Given the description of an element on the screen output the (x, y) to click on. 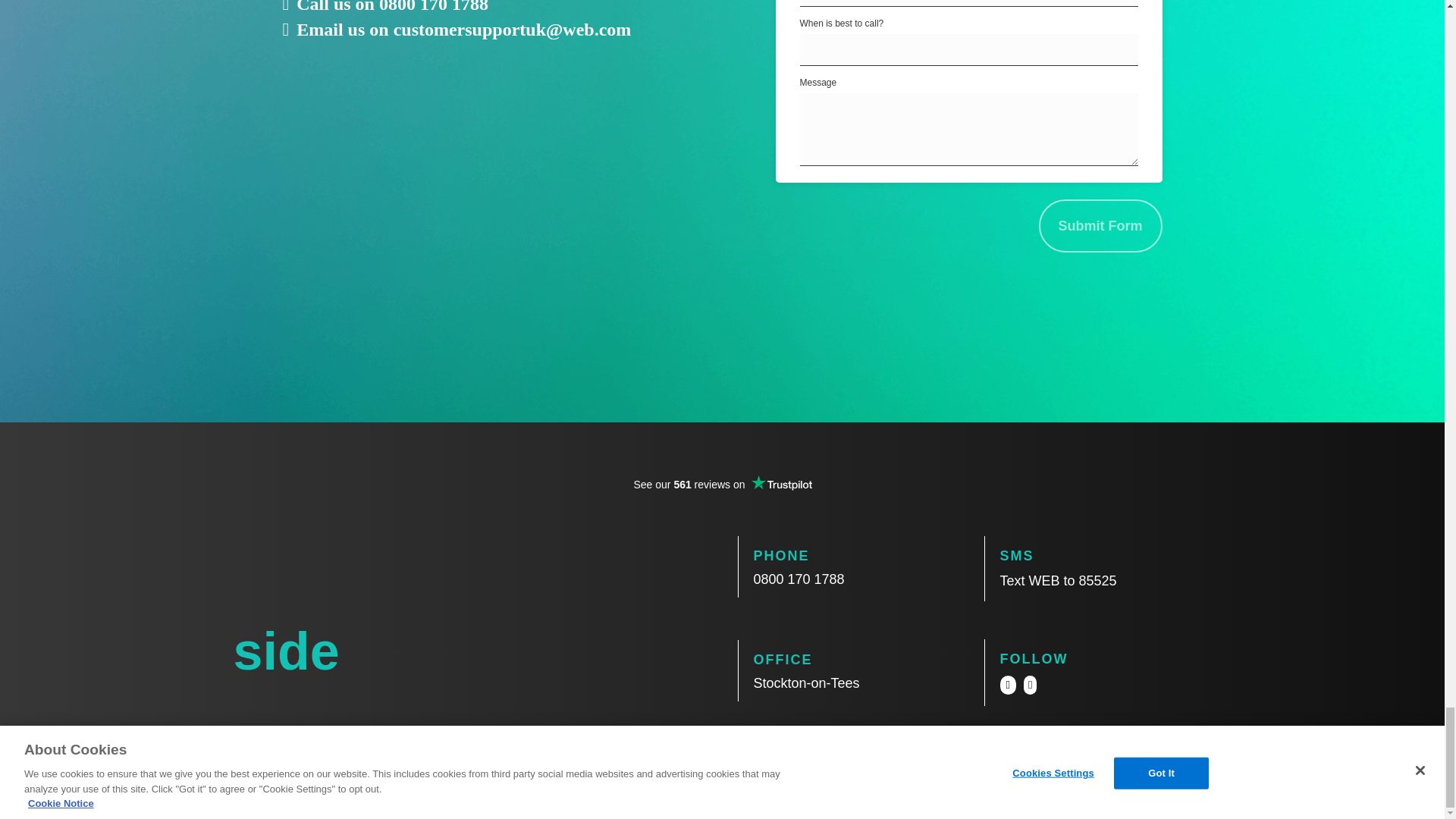
Web.com (337, 766)
Submit Form (1100, 225)
Customer reviews powered by Trustpilot (721, 490)
0800 170 1788 (799, 579)
85525 (1097, 580)
Submit Form (1100, 225)
Do Not Sell My Personal Information (1123, 766)
0800 170 1788 (432, 6)
Privacy Center (991, 766)
